Given the description of an element on the screen output the (x, y) to click on. 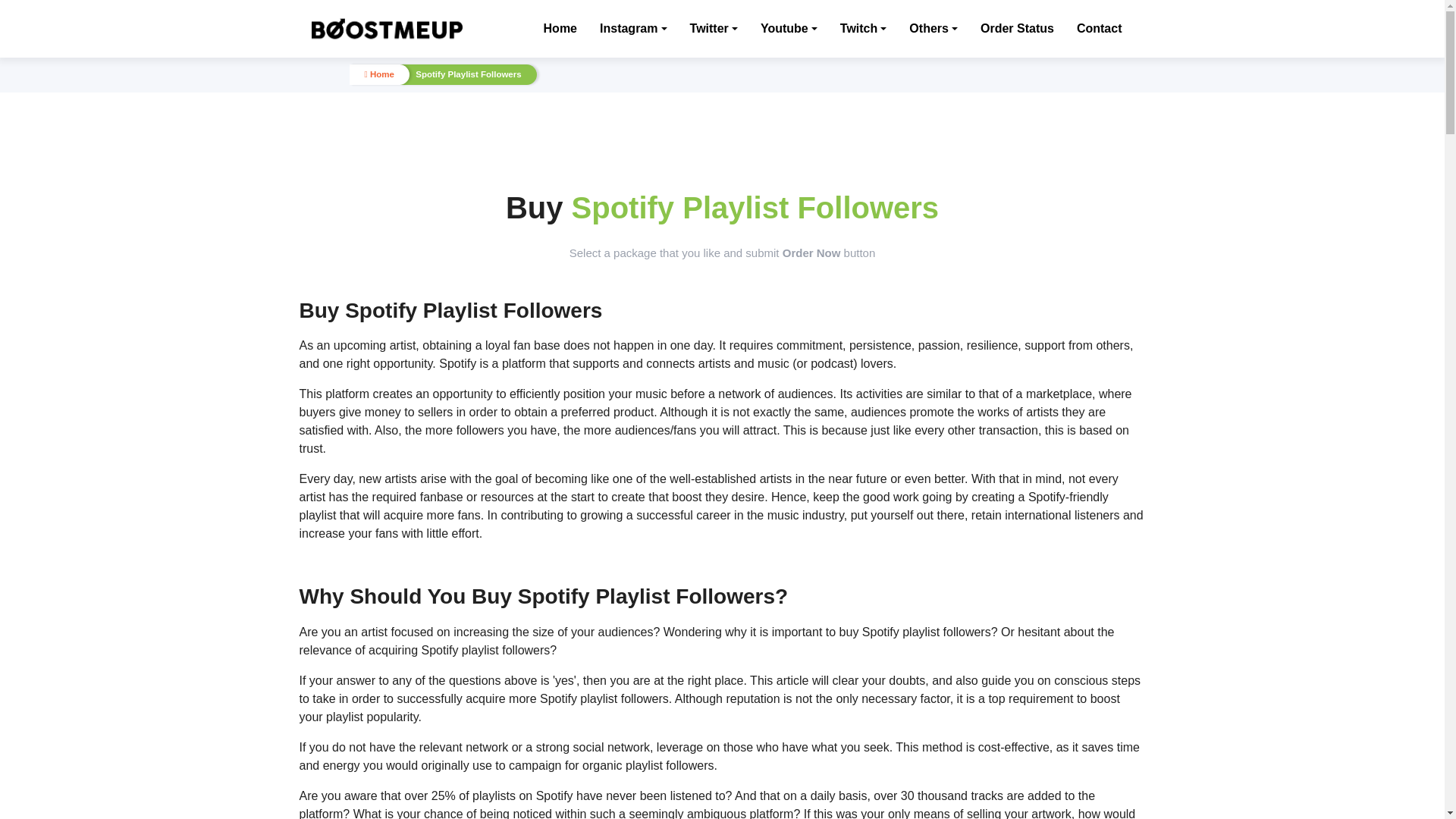
Home (559, 28)
Order Status (1016, 28)
Twitter (714, 28)
Youtube (788, 28)
Instagram (632, 28)
Others (933, 28)
Twitch (863, 28)
Home (559, 28)
Contact (1099, 28)
